Given the description of an element on the screen output the (x, y) to click on. 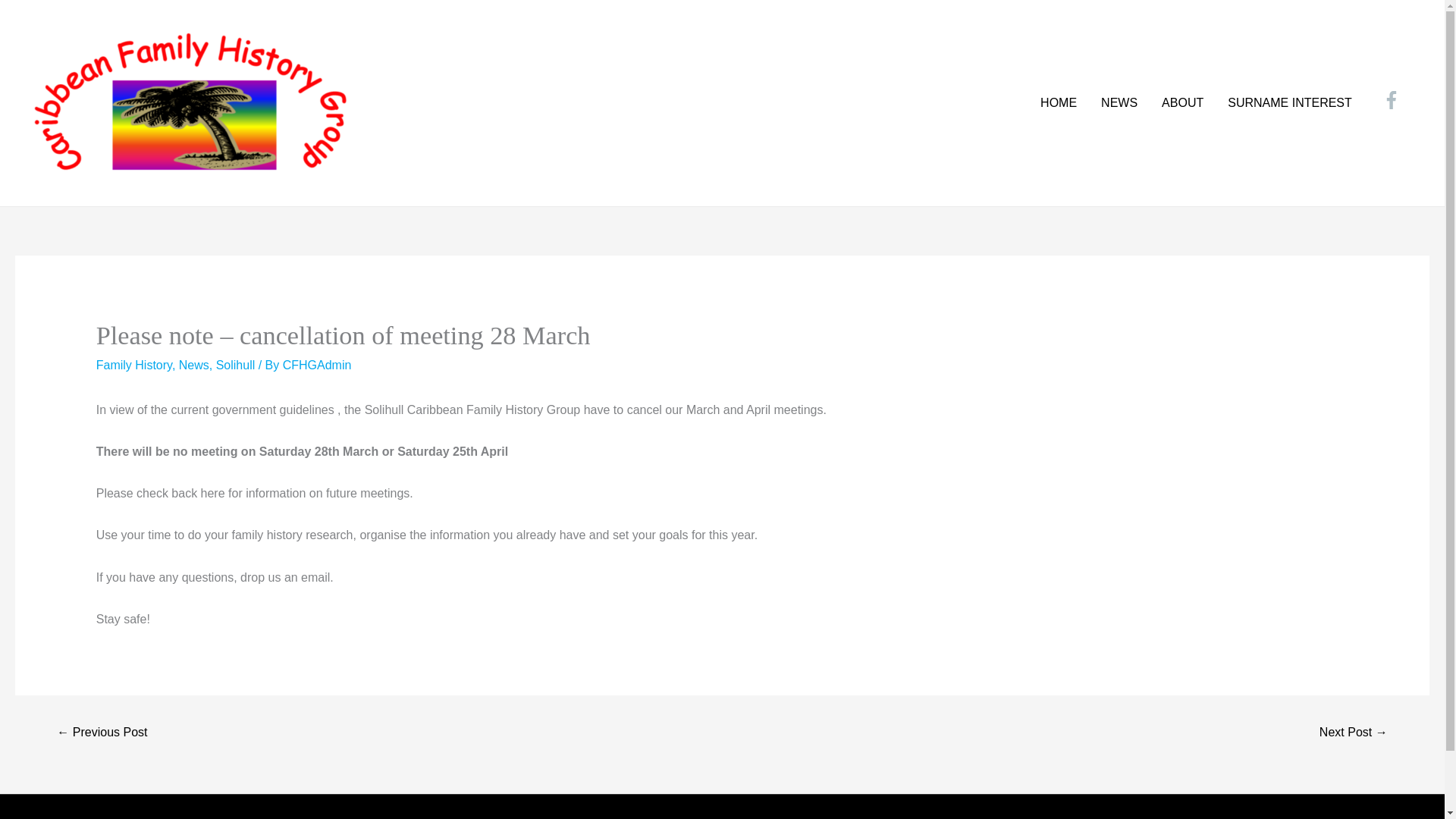
ABOUT (1182, 102)
View all posts by CFHGAdmin (317, 364)
CFHGAdmin (317, 364)
Family History (133, 364)
NEWS (1119, 102)
Solihull (235, 364)
News (194, 364)
HOME (1058, 102)
SURNAME INTEREST (1289, 102)
